Given the description of an element on the screen output the (x, y) to click on. 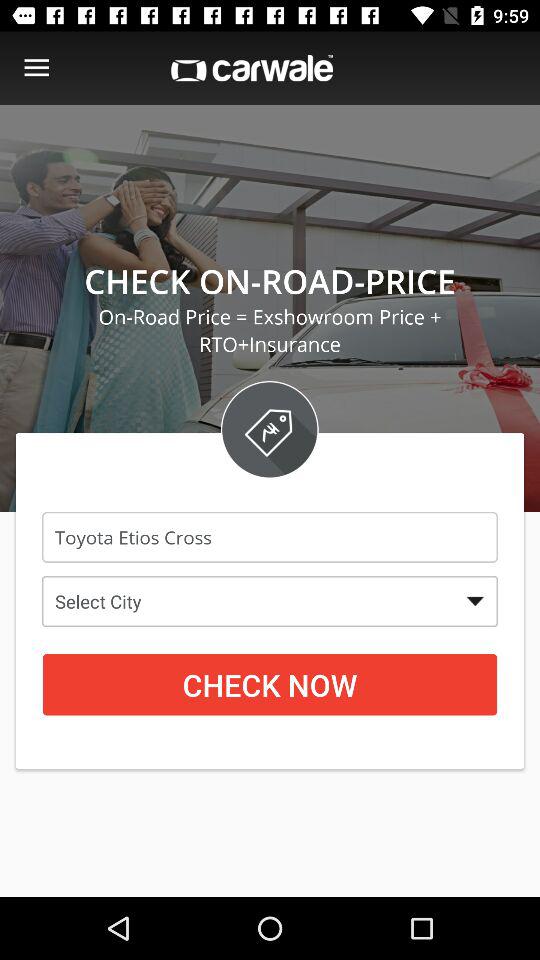
go to costumes (36, 68)
